Given the description of an element on the screen output the (x, y) to click on. 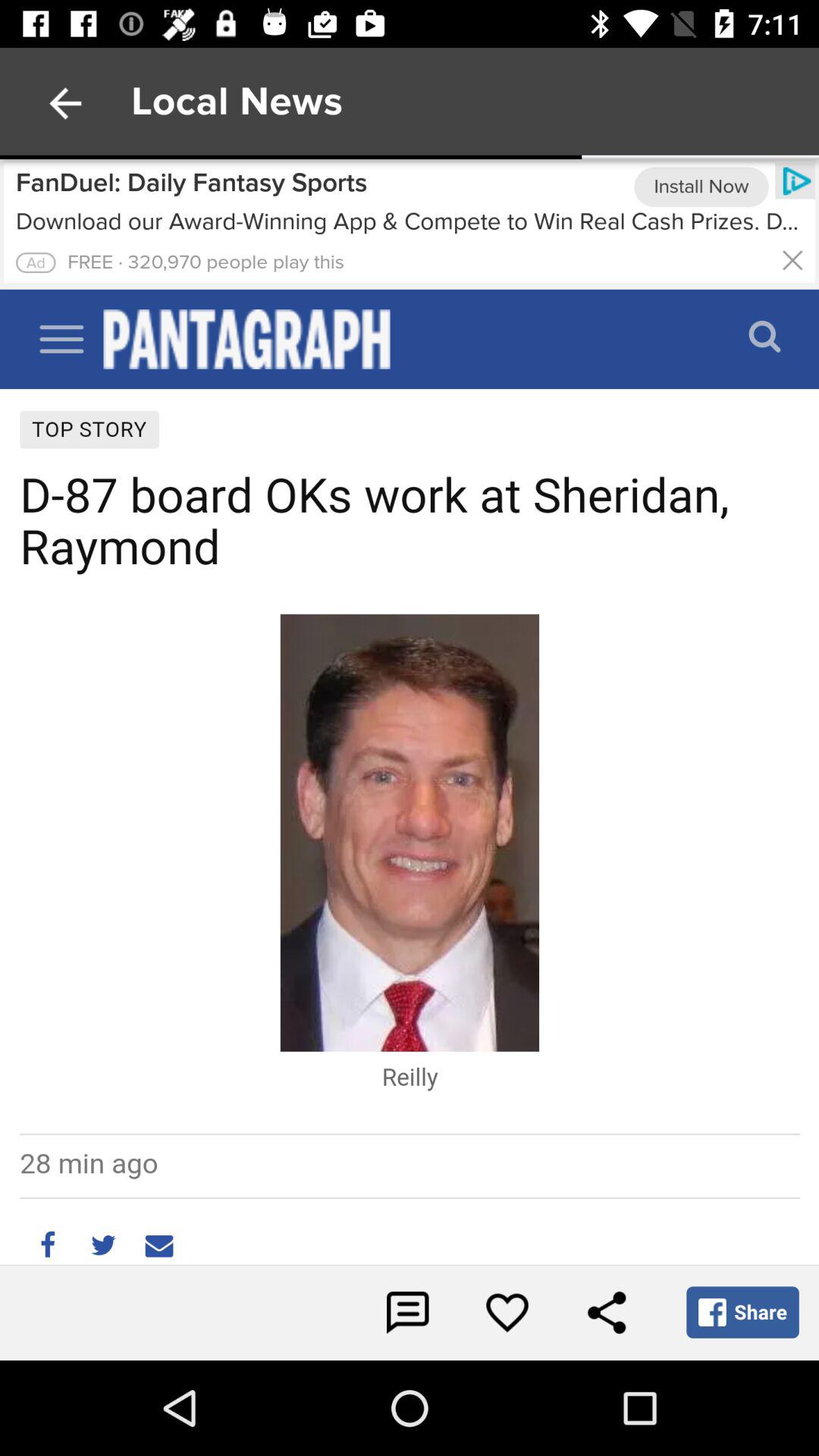
favorate button (506, 1312)
